Given the description of an element on the screen output the (x, y) to click on. 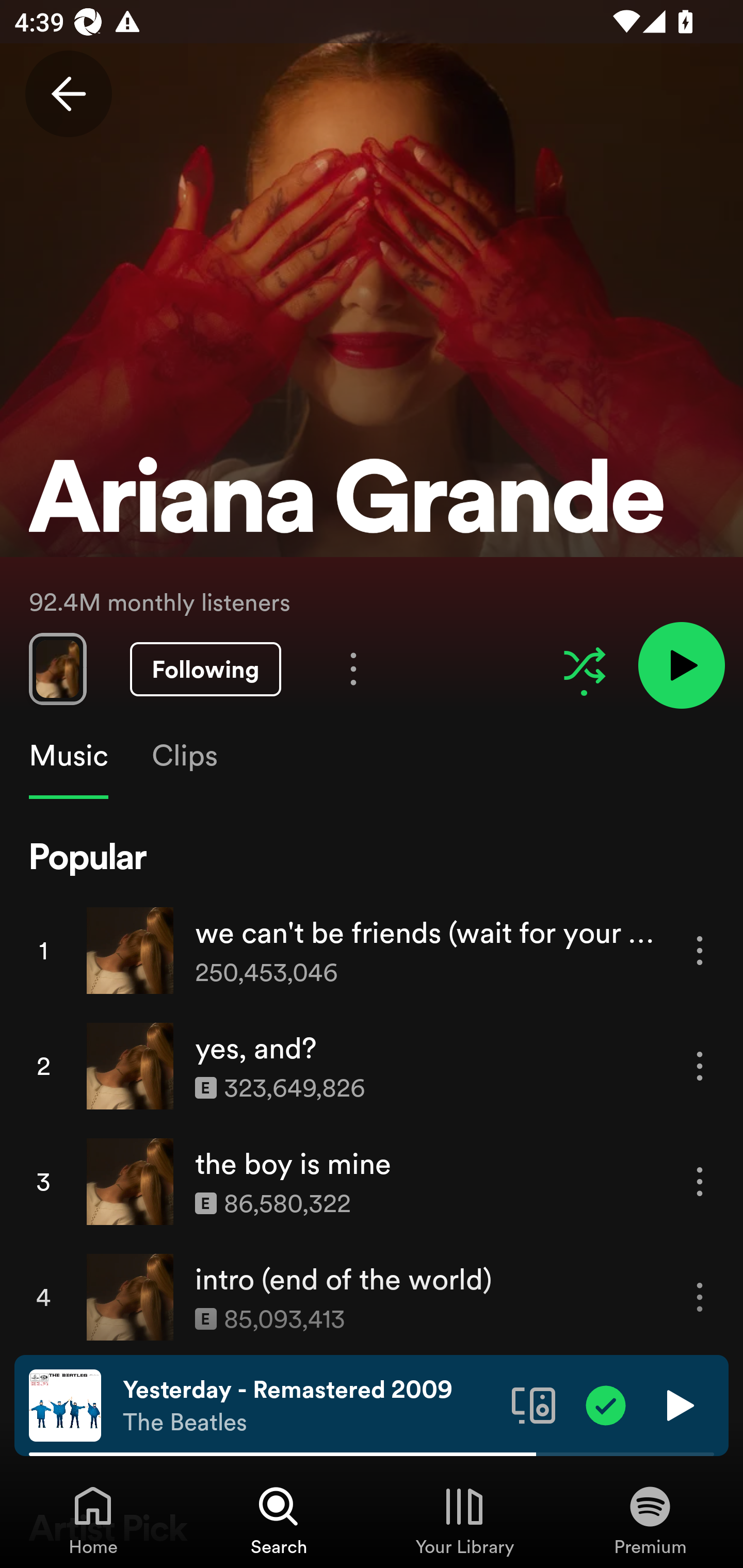
Back (68, 93)
Play artist (681, 664)
Disable shuffle for this artist (583, 665)
Swipe through previews of tracks from this artist. (57, 668)
More options for artist Ariana Grande (352, 668)
Following Unfollow (205, 669)
Clips (184, 755)
More options for song yes, and? (699, 1066)
More options for song the boy is mine (699, 1181)
More options for song intro (end of the world) (699, 1297)
Yesterday - Remastered 2009 The Beatles (309, 1405)
The cover art of the currently playing track (64, 1404)
Connect to a device. Opens the devices menu (533, 1404)
Item added (605, 1404)
Play (677, 1404)
Home, Tab 1 of 4 Home Home (92, 1519)
Search, Tab 2 of 4 Search Search (278, 1519)
Your Library, Tab 3 of 4 Your Library Your Library (464, 1519)
Premium, Tab 4 of 4 Premium Premium (650, 1519)
